Given the description of an element on the screen output the (x, y) to click on. 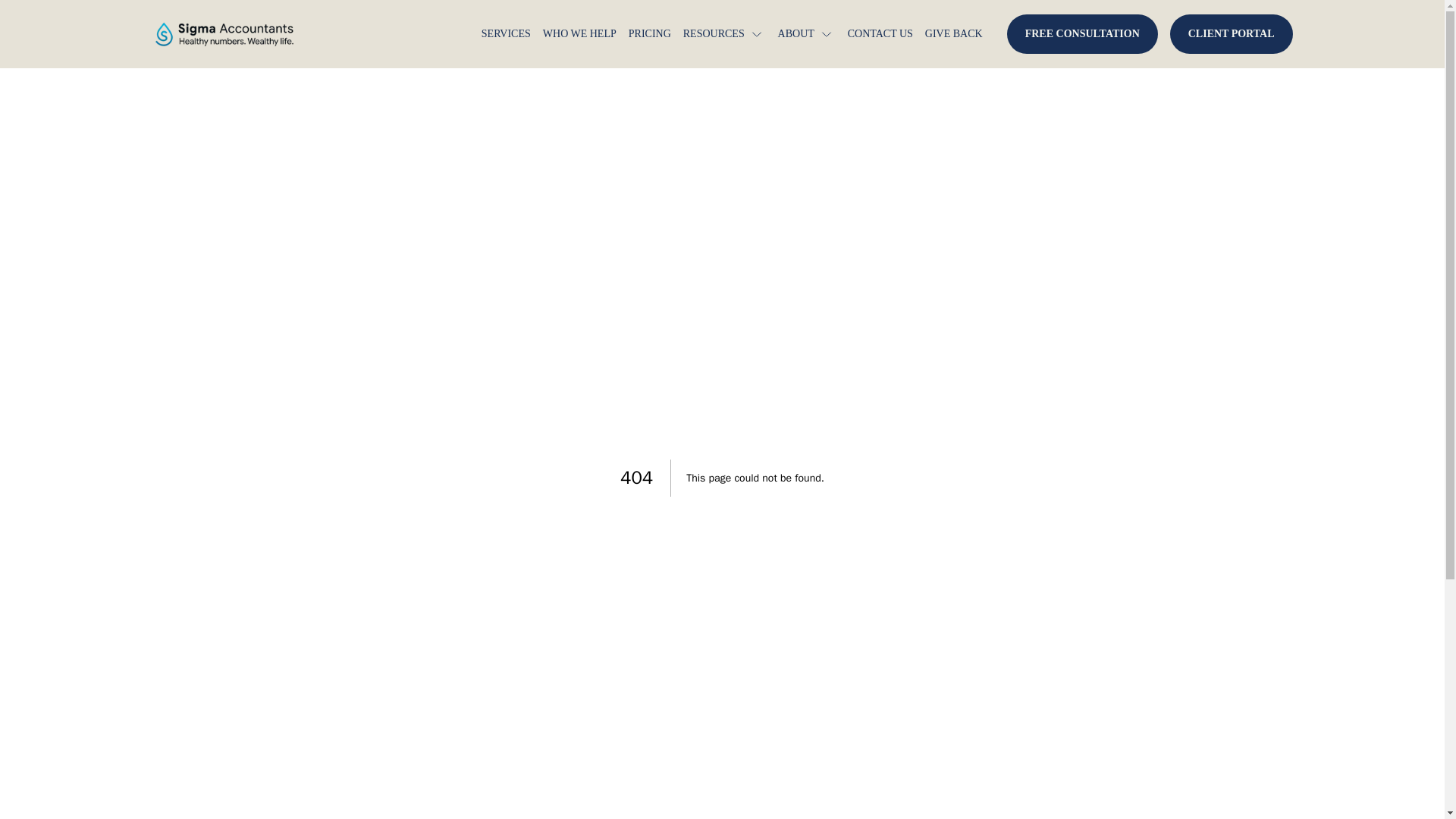
ABOUT (804, 33)
FREE CONSULTATION (1082, 34)
GIVE BACK (953, 33)
SERVICES (506, 33)
CLIENT PORTAL (1231, 34)
CONTACT US (879, 33)
PRICING (649, 33)
WHO WE HELP (579, 33)
RESOURCES (722, 33)
